Given the description of an element on the screen output the (x, y) to click on. 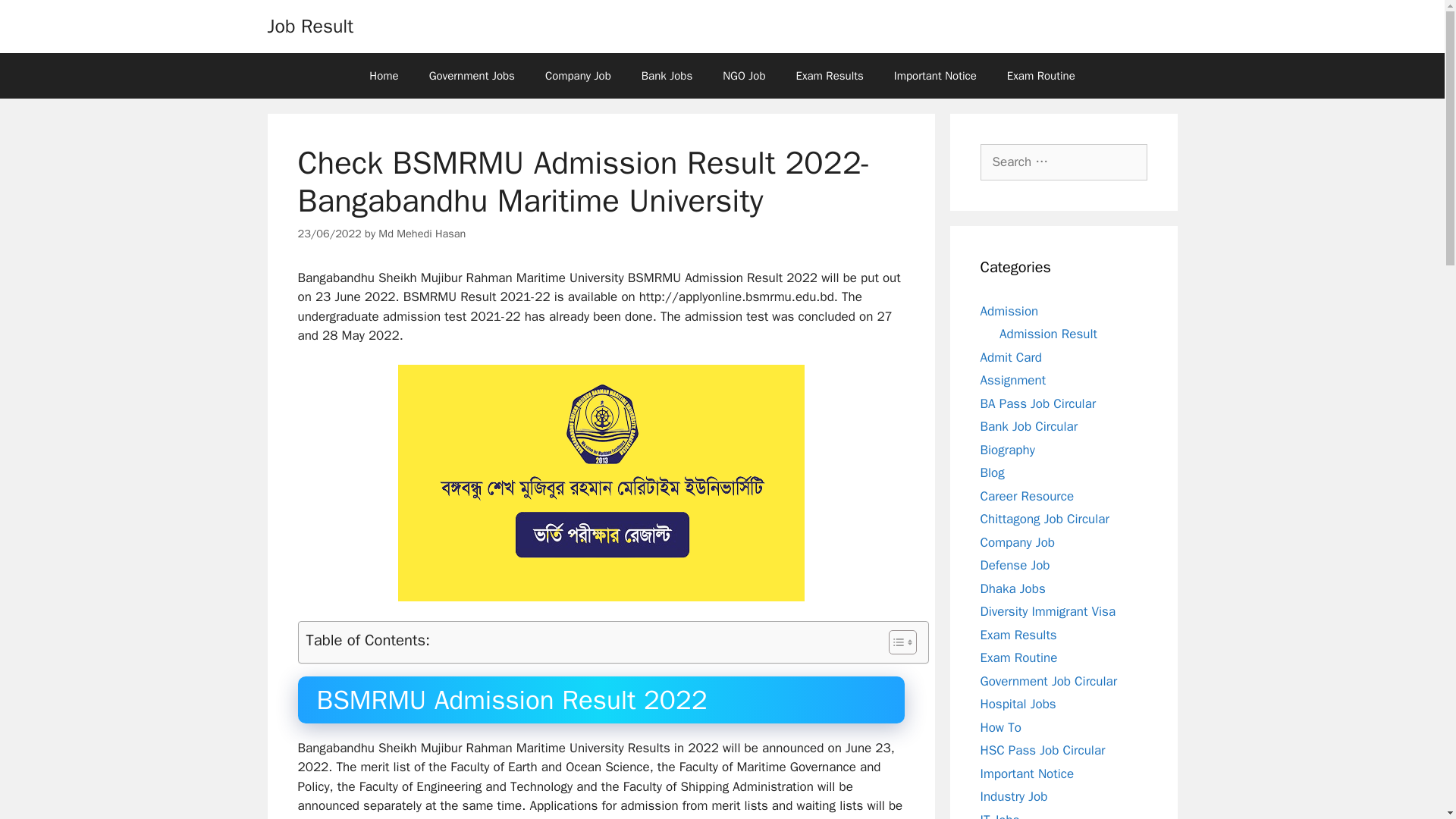
NGO Job (743, 75)
View all posts by Md Mehedi Hasan (421, 233)
Bank Jobs (666, 75)
Company Job (577, 75)
Exam Results (829, 75)
Search for: (1063, 162)
Government Jobs (471, 75)
Important Notice (935, 75)
Biography (1006, 449)
Career Resource (1026, 496)
Admission Result (1047, 333)
Diversity Immigrant Visa (1047, 611)
Home (383, 75)
BA Pass Job Circular (1037, 403)
Defense Job (1014, 565)
